Given the description of an element on the screen output the (x, y) to click on. 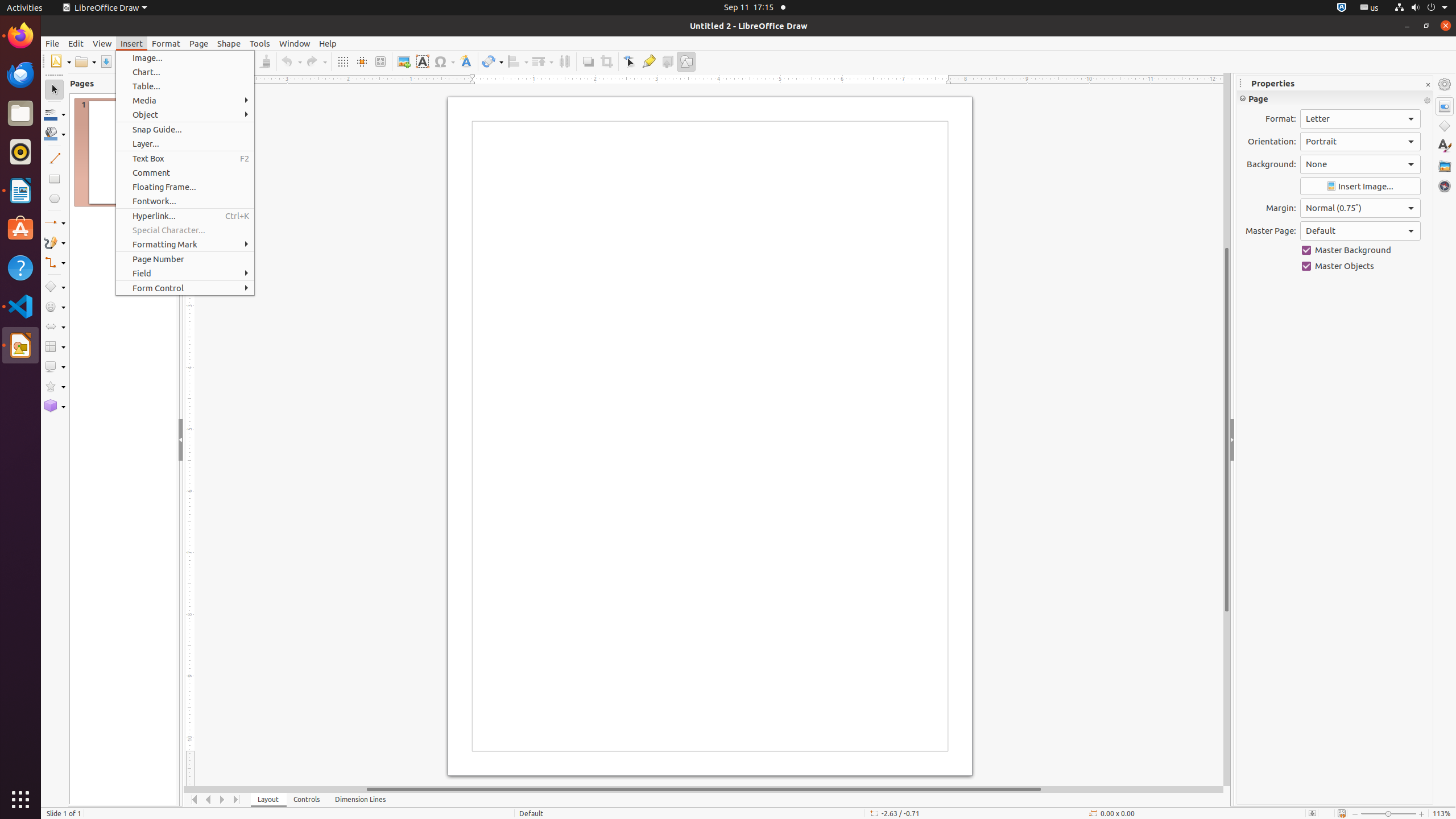
Master Background Element type: check-box (1360, 249)
Shapes Element type: radio-button (1444, 126)
Rectangle Element type: push-button (53, 178)
Distribution Element type: push-button (564, 61)
Show Applications Element type: toggle-button (20, 799)
